Given the description of an element on the screen output the (x, y) to click on. 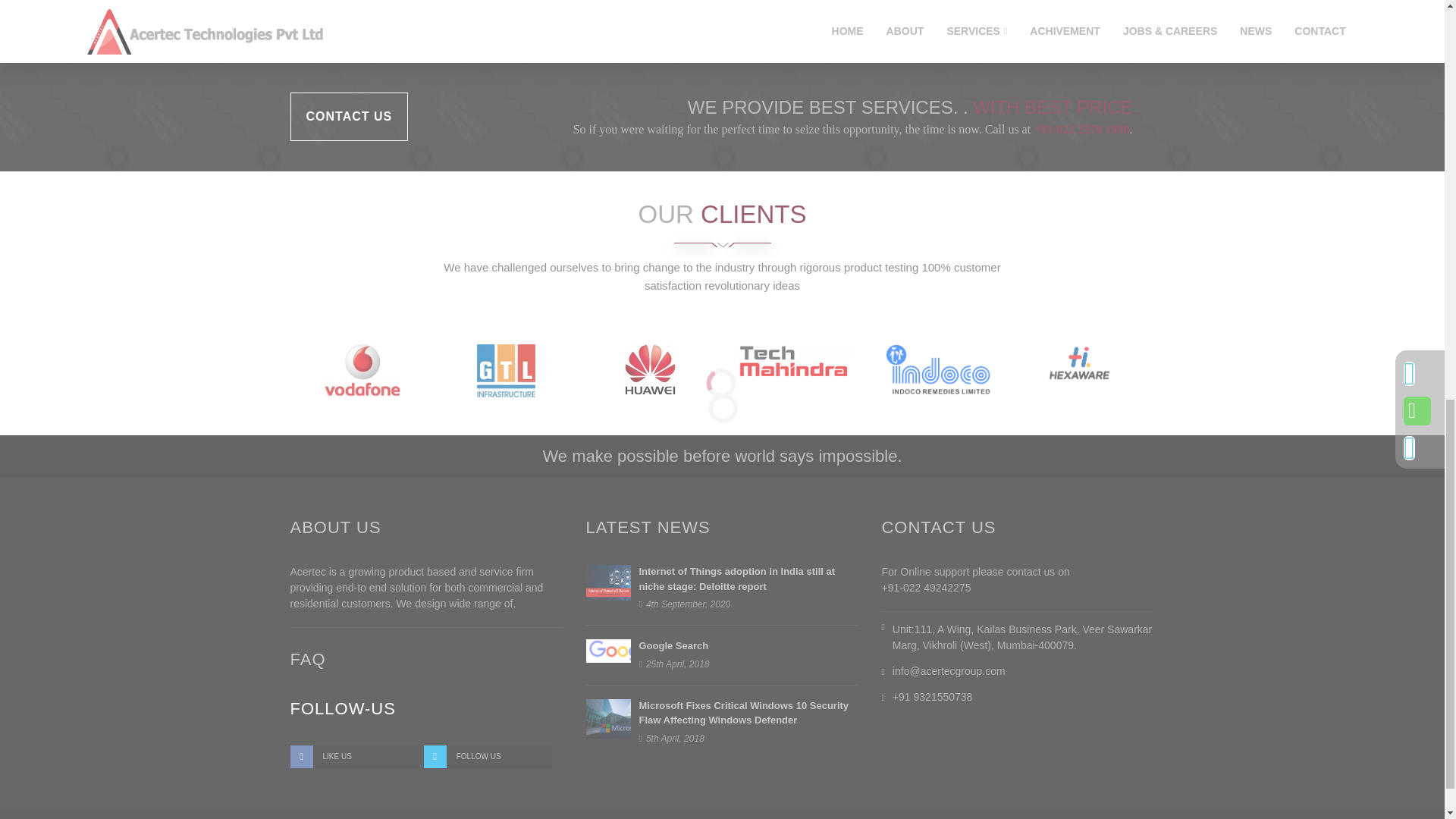
CONTACT US (348, 116)
FAQ (306, 659)
LIKE US (353, 756)
ABOUT US (334, 527)
LATEST NEWS (647, 527)
Facebook (353, 756)
FOLLOW US (487, 756)
Twitter (487, 756)
Google Search (673, 645)
